Given the description of an element on the screen output the (x, y) to click on. 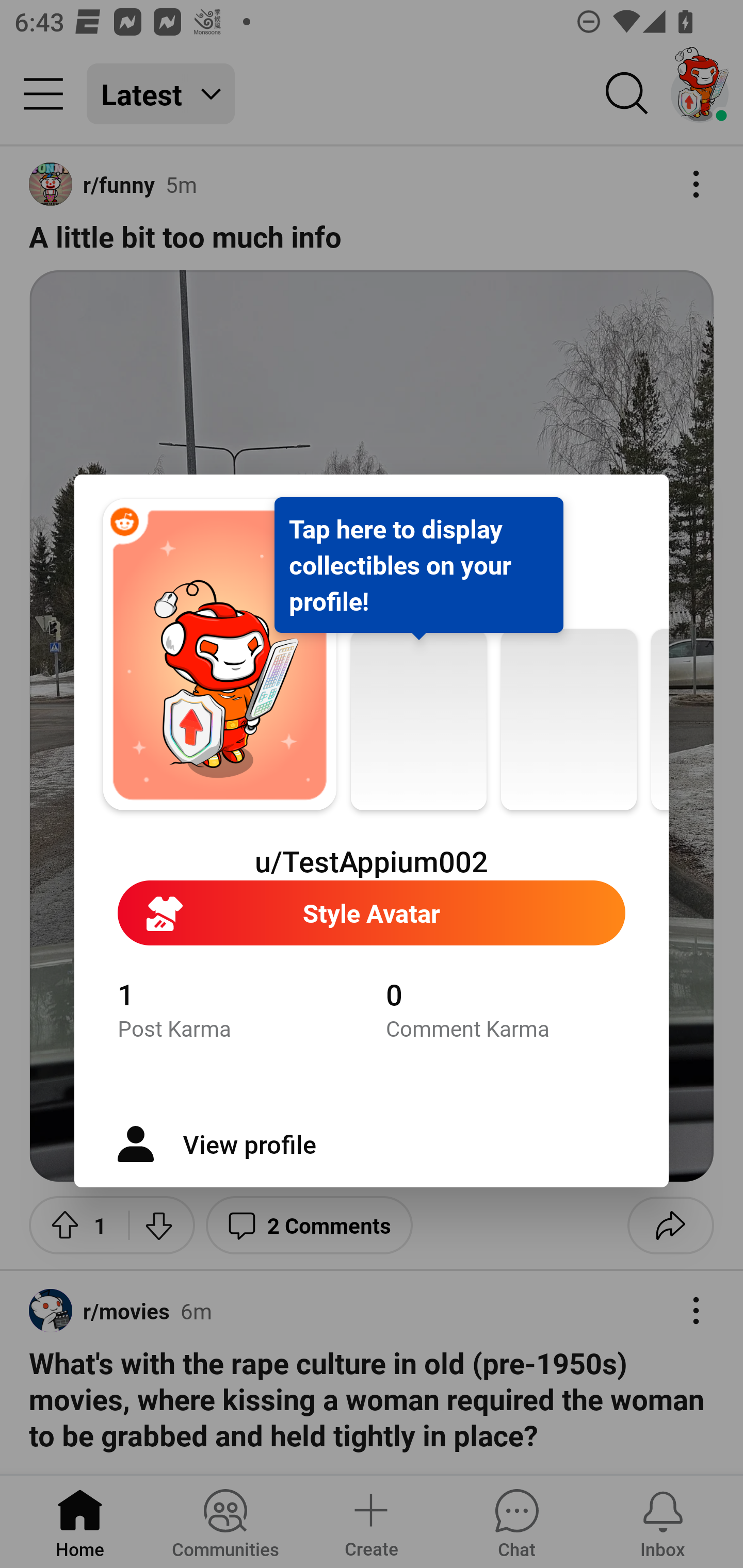
u/TestAppium002 (371, 861)
Style Avatar (371, 913)
View profile (371, 1143)
